Given the description of an element on the screen output the (x, y) to click on. 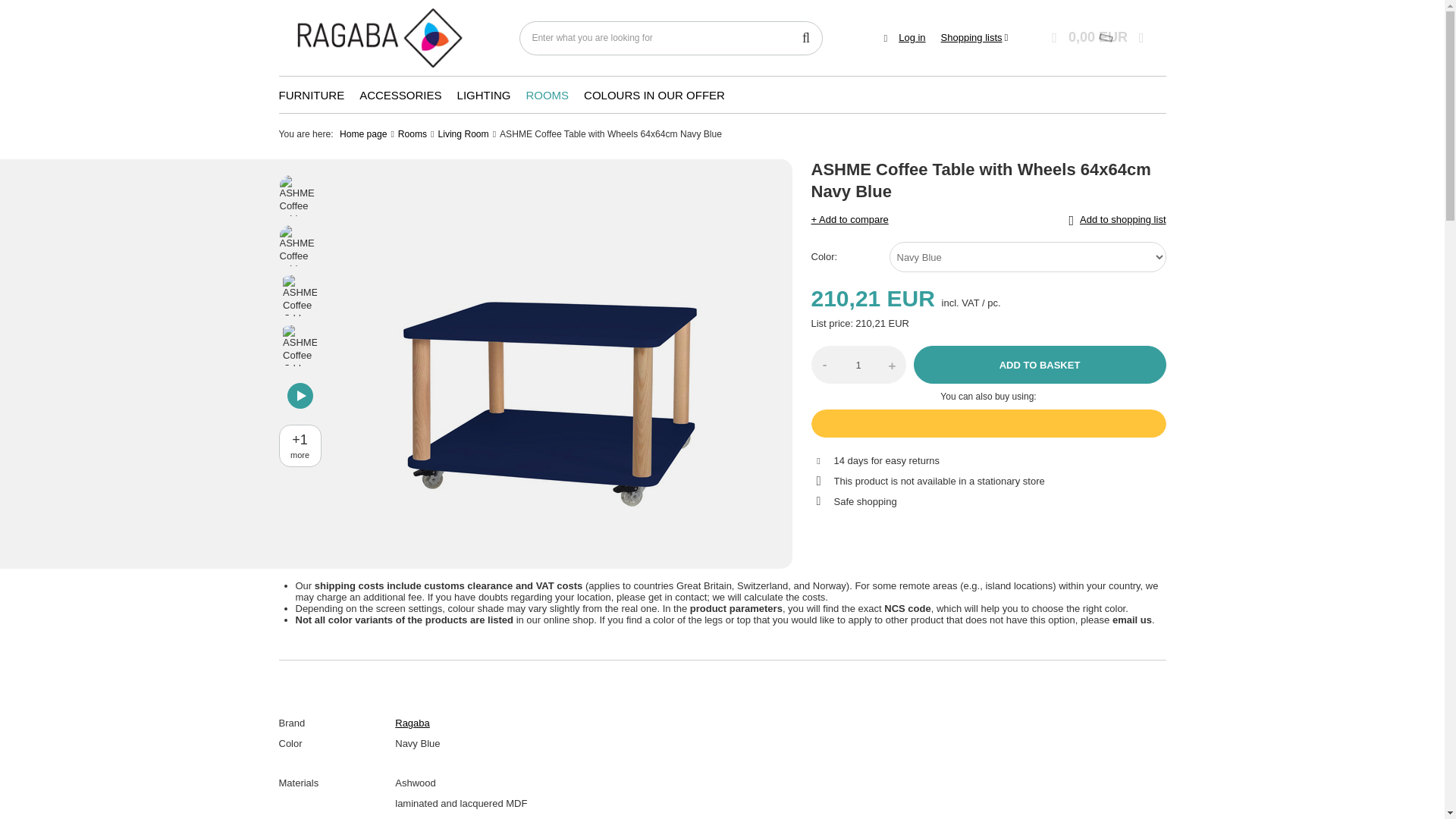
0,00 EUR (1099, 38)
Log in (911, 38)
Furniture (311, 96)
FURNITURE (311, 96)
ACCESSORIES (400, 96)
Shopping lists (974, 37)
1 (858, 364)
